Given the description of an element on the screen output the (x, y) to click on. 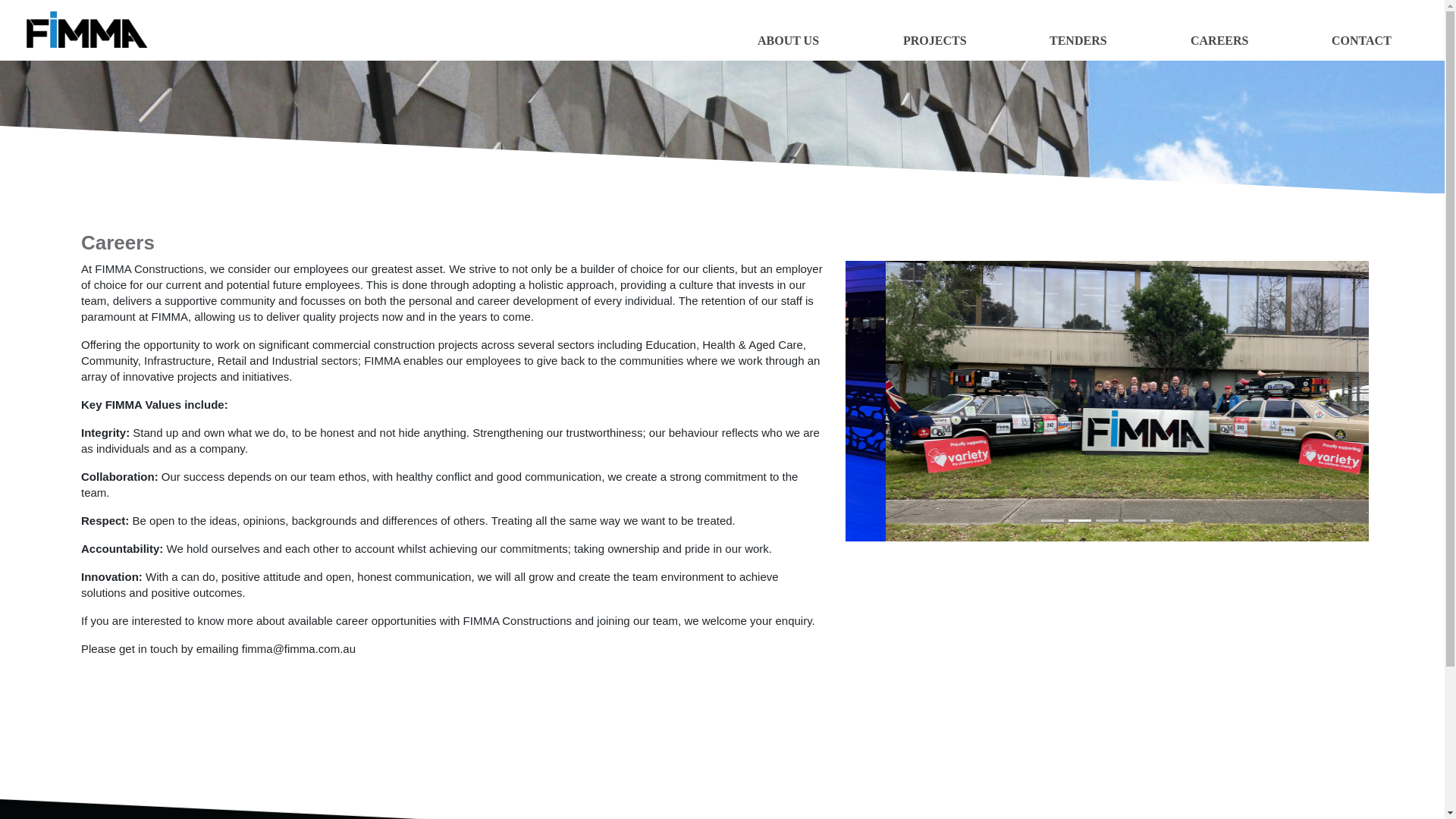
Next Element type: text (1329, 400)
CAREERS Element type: text (1219, 45)
CONTACT Element type: text (1361, 45)
ABOUT US Element type: text (788, 45)
FIMMA Constructions Pty Ltd Element type: hover (79, 27)
fimma@fimma.com.au Element type: text (298, 648)
PROJECTS Element type: text (934, 45)
TENDERS Element type: text (1078, 45)
Previous Element type: text (884, 400)
FIMMA Constructions Pty Ltd Element type: hover (86, 29)
